Given the description of an element on the screen output the (x, y) to click on. 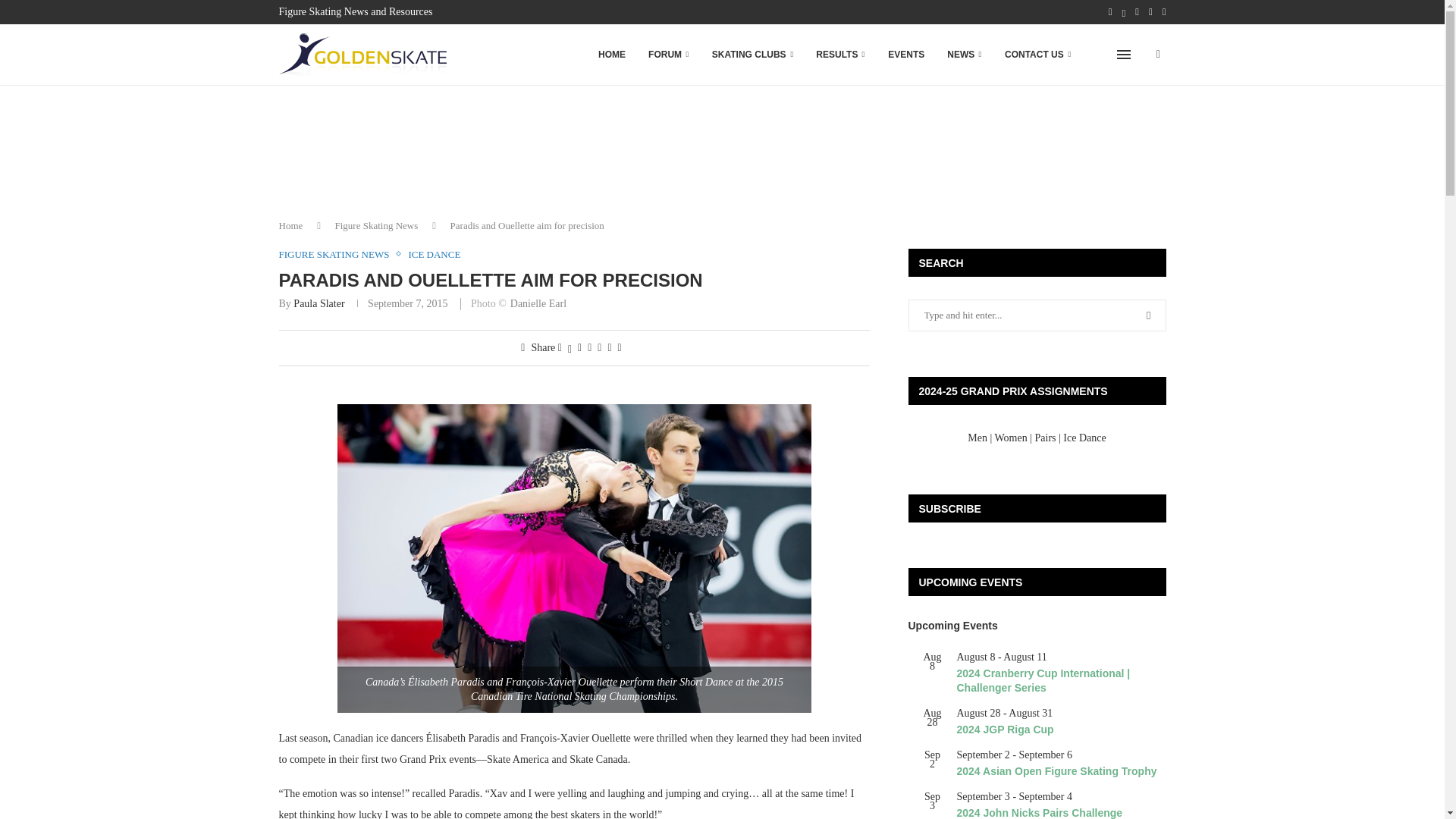
RESULTS (840, 54)
SKATING CLUBS (752, 54)
FORUM (668, 54)
